Given the description of an element on the screen output the (x, y) to click on. 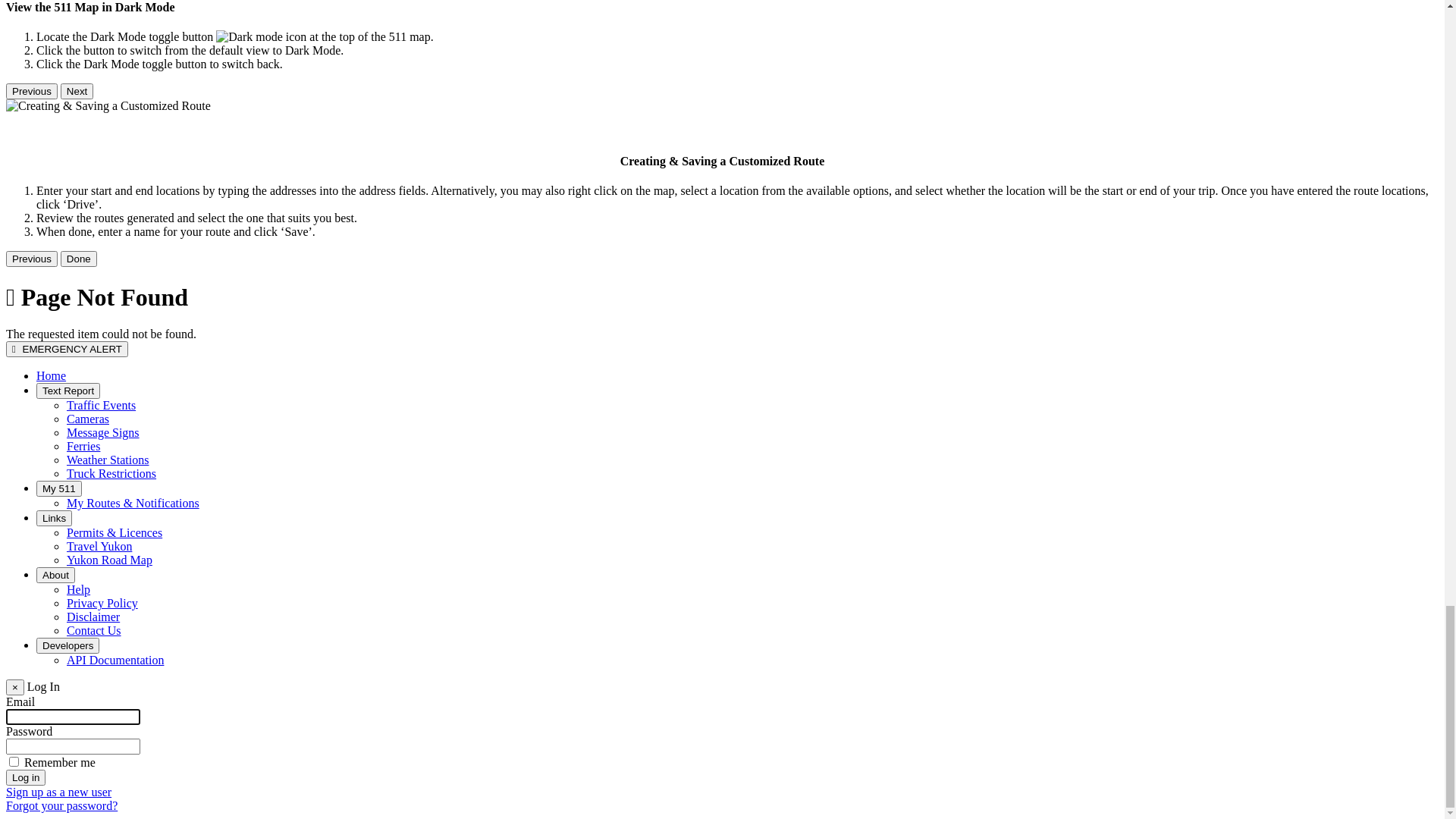
Help Element type: text (78, 741)
New
Features FeaturesOpen Features Modal Element type: text (131, 190)
Swift River Element type: text (94, 456)
Log In Element type: text (82, 224)
About Element type: text (51, 727)
Pelly Crossing Element type: text (102, 415)
Travel Yukon Element type: text (98, 700)
All Regions Element type: text (65, 251)
Faro Element type: text (77, 360)
Links Element type: text (49, 673)
My 511 Element type: text (55, 646)
TwitterLink to Twitter in new window. Element type: text (136, 169)
Weather Stations Element type: text (107, 618)
Ross River Element type: text (93, 429)
Dawson City Element type: text (98, 333)
Haines Junction Element type: text (105, 374)
English Element type: text (84, 497)
Burwash Landing Element type: text (109, 292)
Cameras Element type: text (87, 577)
Keno City Element type: text (91, 388)
Truck Restrictions Element type: text (111, 632)
Skip to main content Element type: text (5, 58)
Log In Element type: text (82, 118)
Permits & Licences Element type: text (114, 686)
Stewart Crossing Element type: text (108, 442)
All Regions Element type: text (95, 265)
Disclaimer Element type: text (92, 768)
My Routes & Notifications Element type: text (132, 659)
TwitterLink to Twitter in new window. Element type: text (106, 144)
Traffic Events Element type: text (100, 564)
Mayo Element type: text (80, 401)
Message Signs Element type: text (102, 591)
Sign Up for an account. Element type: text (124, 104)
Home Element type: text (50, 808)
Contact Us Element type: text (93, 782)
Carmacks Element type: text (90, 319)
Whitehorse Element type: text (94, 483)
Eagle Plains Element type: text (96, 347)
Privacy Policy Element type: text (102, 755)
Sign Up for an account. Element type: text (124, 210)
Ferries Element type: text (83, 605)
Beaver Creek Element type: text (99, 279)
Teslin Element type: text (81, 470)
Text Report Element type: text (65, 550)
Home Element type: text (50, 536)
Yukon Road Map Element type: text (109, 714)
User Element type: text (38, 90)
Carcross Element type: text (87, 306)
